Given the description of an element on the screen output the (x, y) to click on. 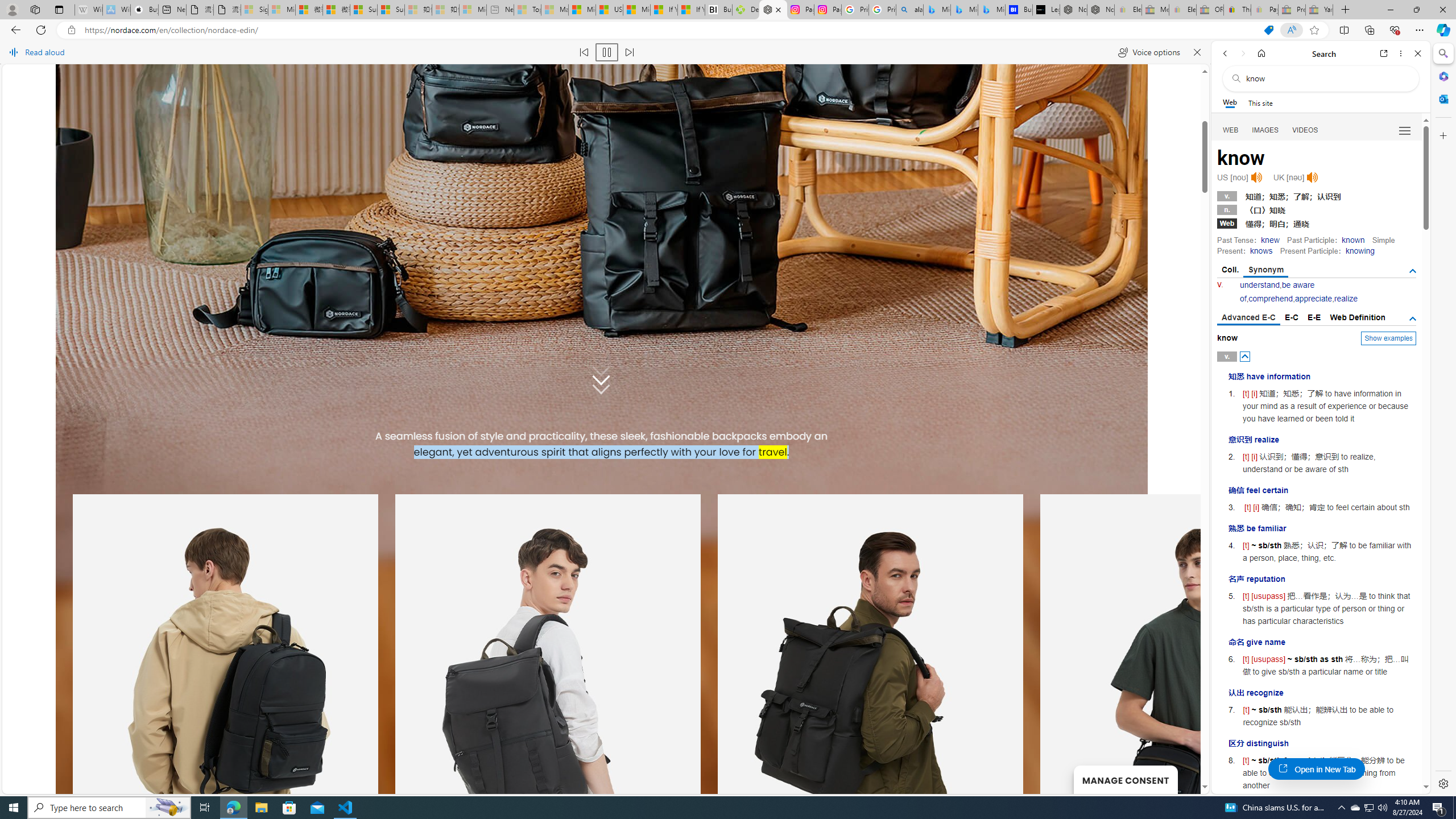
Read next paragraph (628, 52)
E-C (1291, 317)
Black (253, 436)
MANAGE CONSENT (1125, 779)
